Given the description of an element on the screen output the (x, y) to click on. 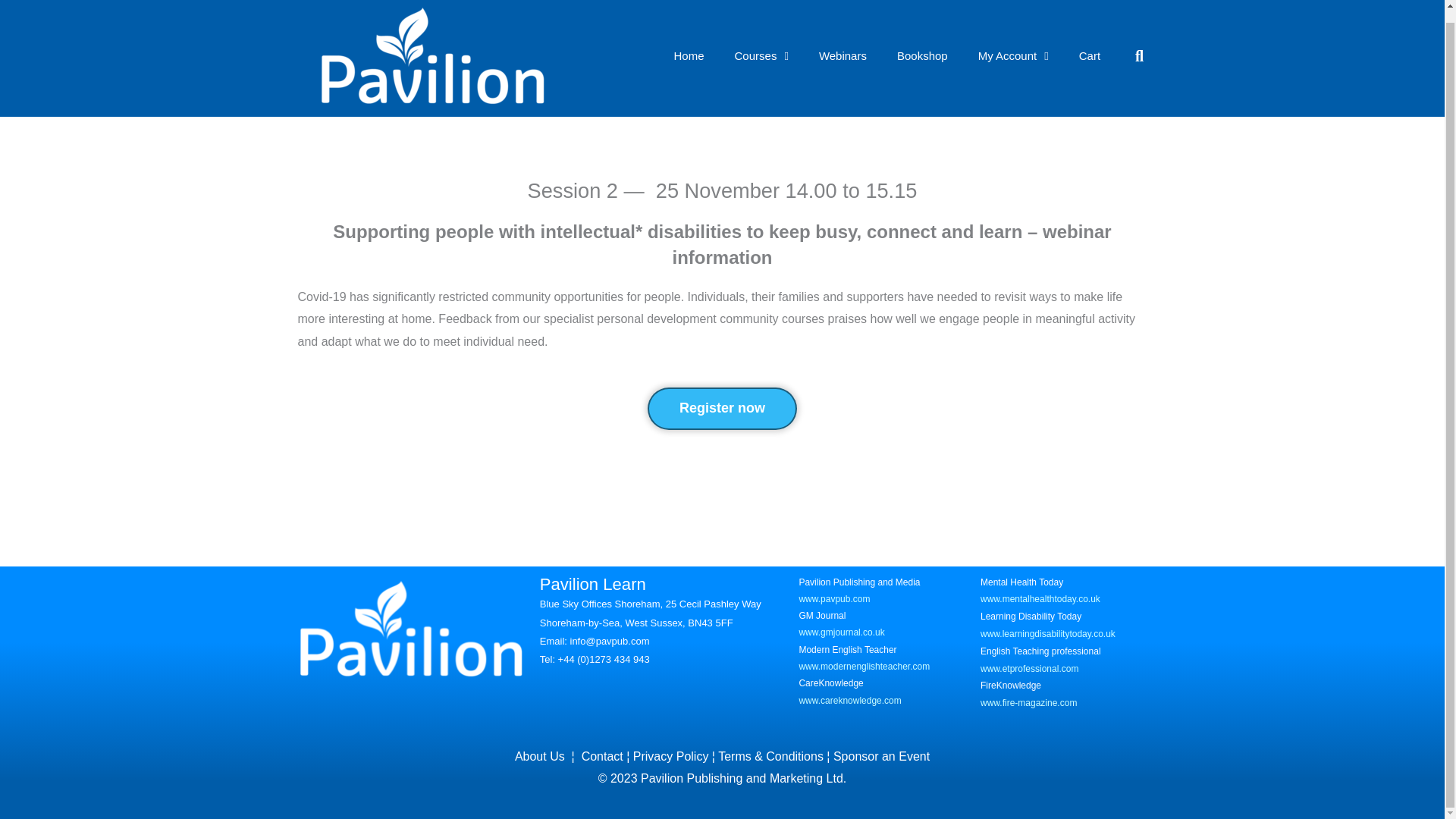
Courses (761, 56)
www.modernenglishteacher.com (863, 665)
www.gmjournal.co.uk (840, 632)
My Account (1013, 56)
www.careknowledge.com (849, 700)
www.mentalhealthtoday.co.uk (1039, 598)
Webinars (842, 56)
Bookshop (922, 56)
Register now (721, 408)
www.pavpub.com (833, 598)
